Given the description of an element on the screen output the (x, y) to click on. 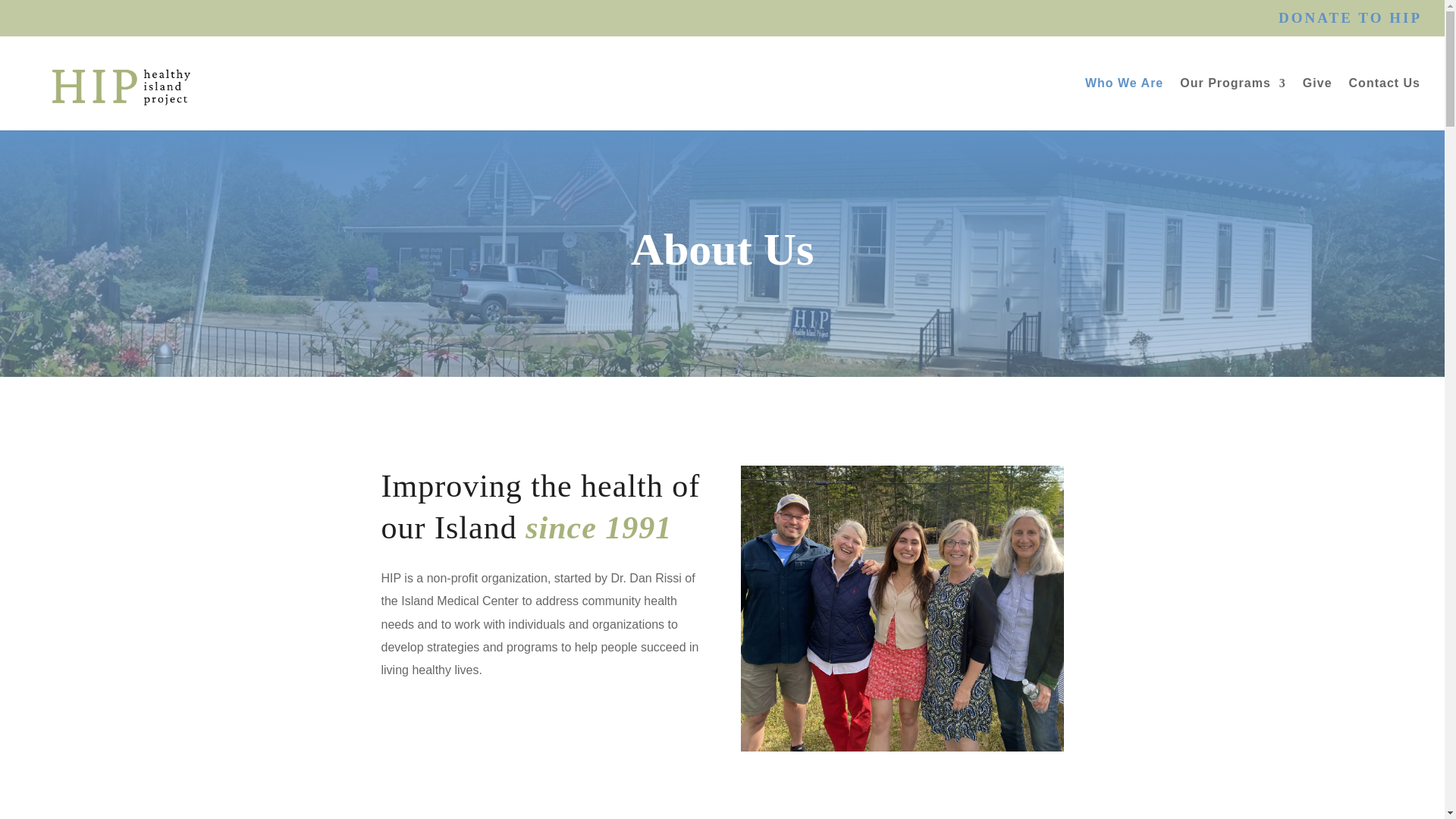
IMG-6443 (901, 608)
Who We Are (1123, 102)
Our Programs (1232, 102)
DONATE TO HIP (1350, 23)
Contact Us (1385, 102)
